Given the description of an element on the screen output the (x, y) to click on. 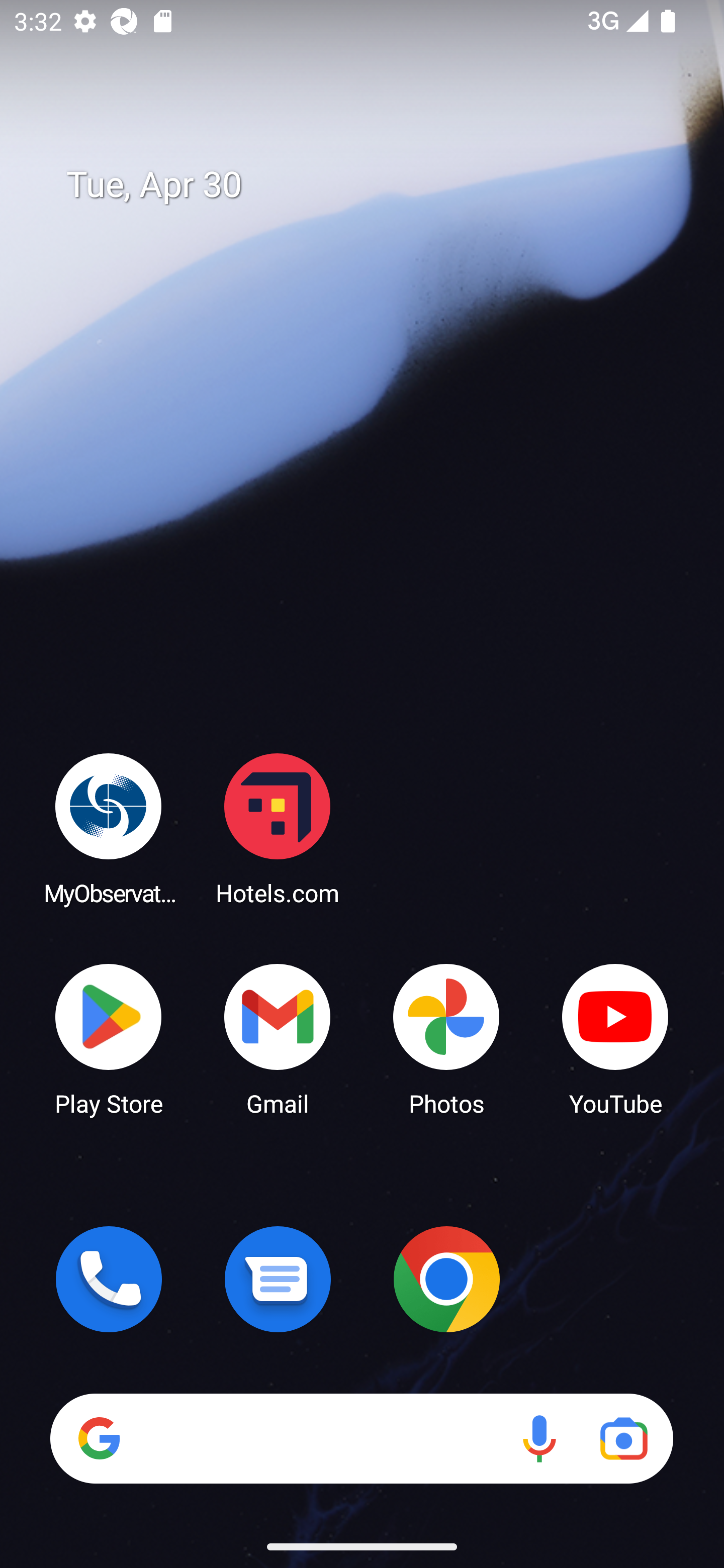
Tue, Apr 30 (375, 184)
MyObservatory (108, 828)
Hotels.com (277, 828)
Play Store (108, 1038)
Gmail (277, 1038)
Photos (445, 1038)
YouTube (615, 1038)
Phone (108, 1279)
Messages (277, 1279)
Chrome (446, 1279)
Search Voice search Google Lens (361, 1438)
Voice search (539, 1438)
Google Lens (623, 1438)
